Given the description of an element on the screen output the (x, y) to click on. 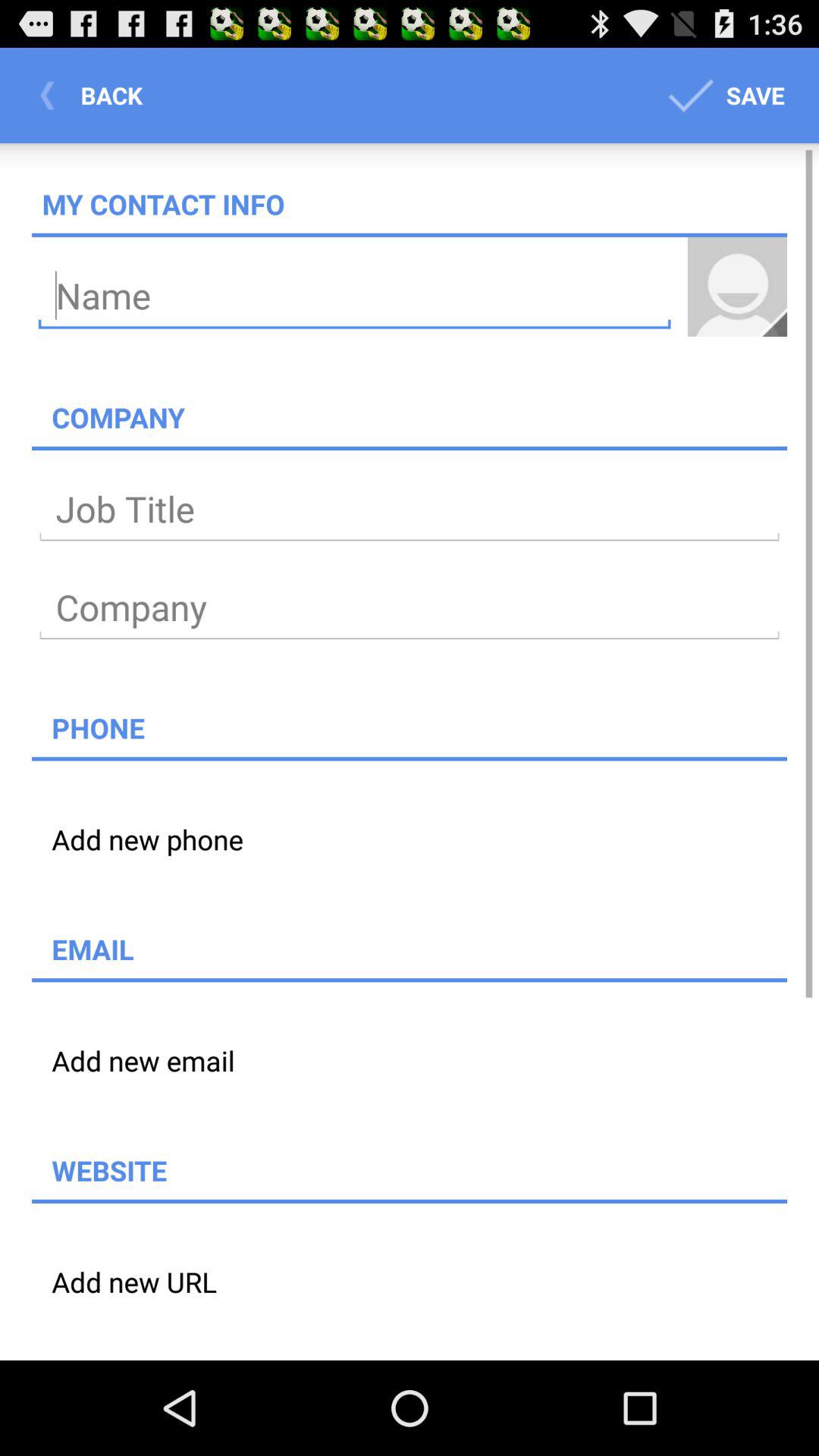
type company name (409, 607)
